Given the description of an element on the screen output the (x, y) to click on. 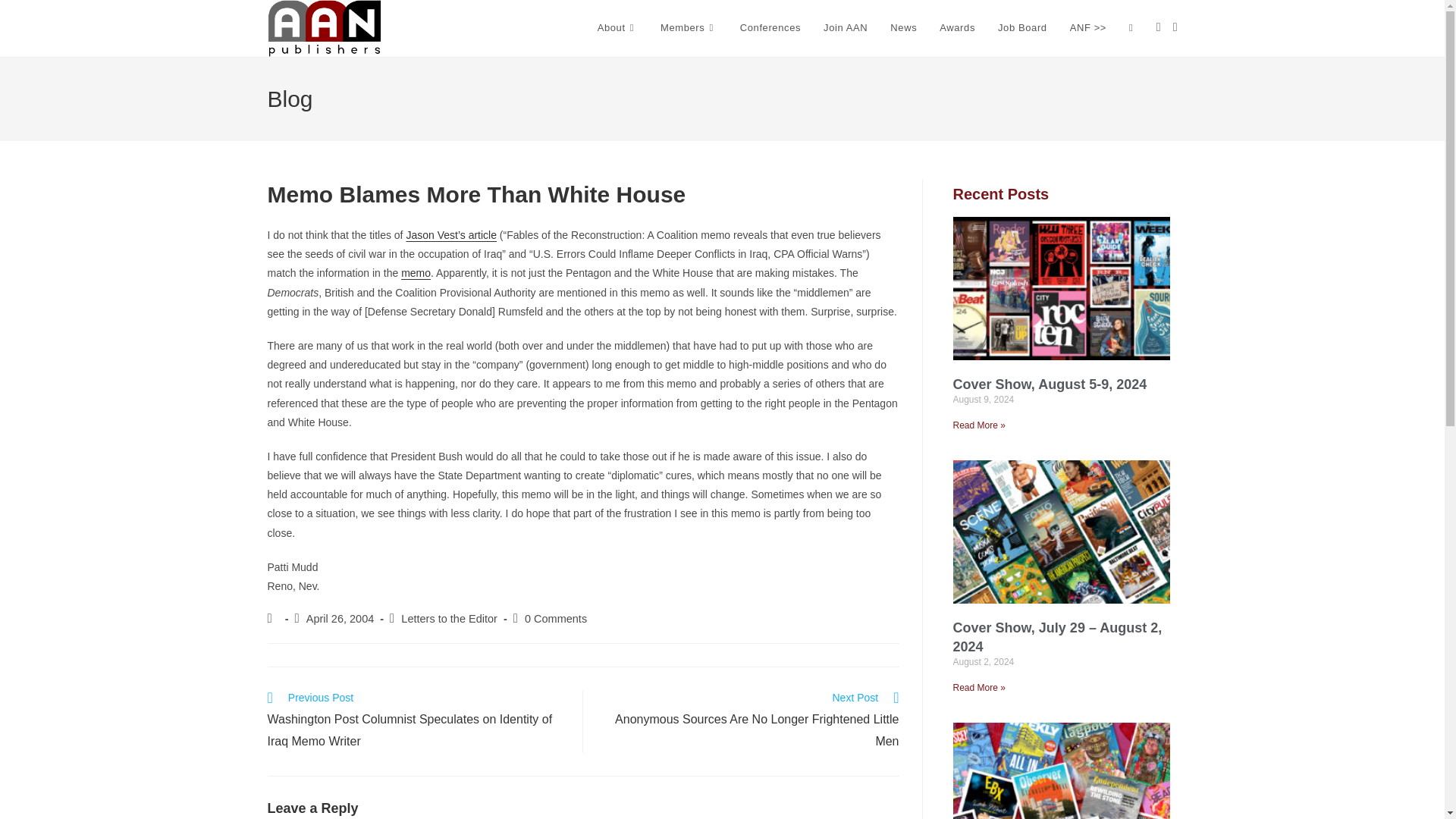
Conferences (770, 28)
Awards (957, 28)
Join AAN (845, 28)
Job Board (1022, 28)
About (617, 28)
Members (689, 28)
